Given the description of an element on the screen output the (x, y) to click on. 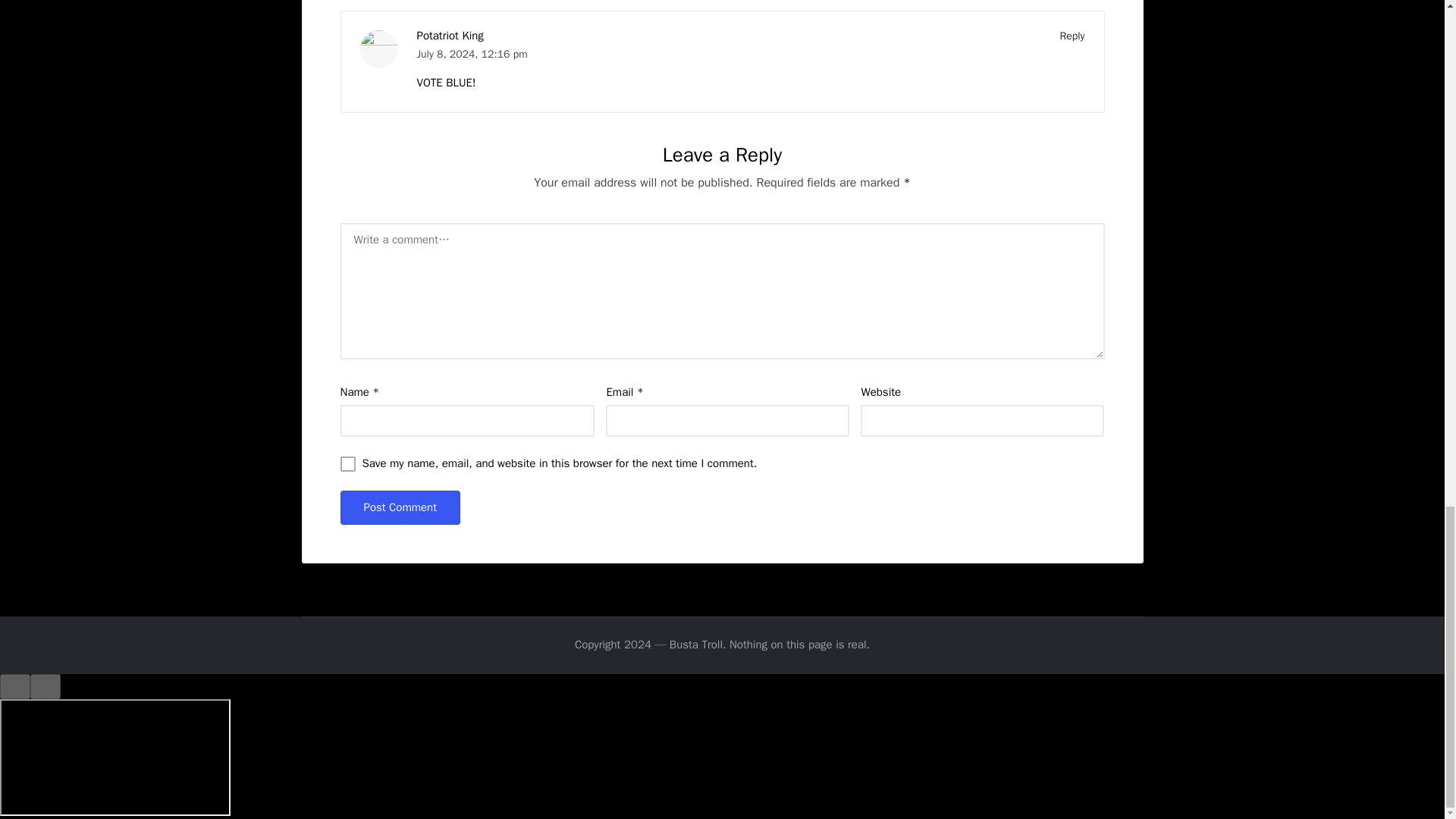
Post Comment (399, 507)
yes (347, 463)
Potatriot King (449, 35)
Post Comment (399, 507)
12:16 pm (504, 53)
Reply (1071, 35)
